Given the description of an element on the screen output the (x, y) to click on. 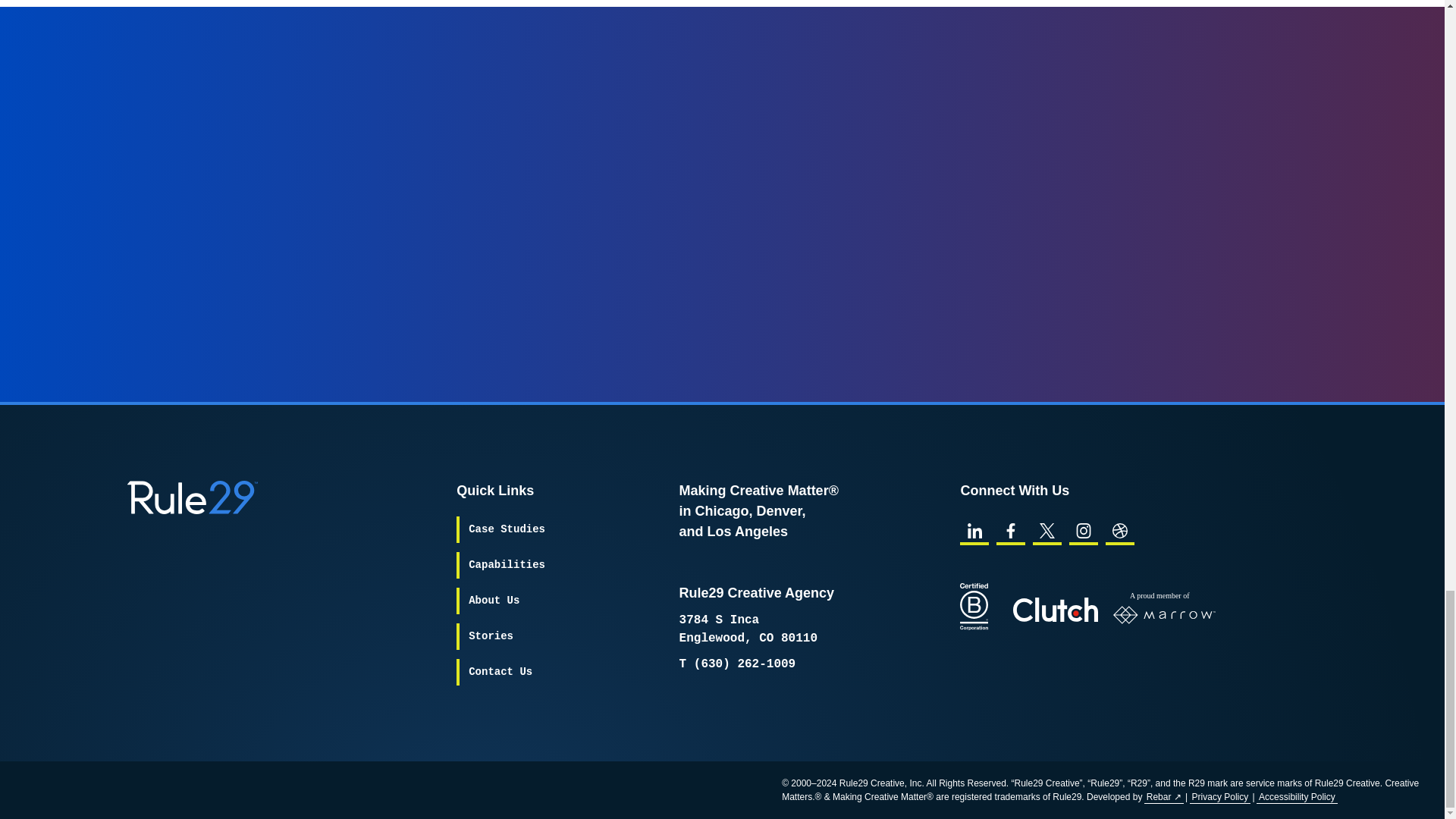
A proud member of (1164, 609)
A proud member of (1164, 606)
Privacy Policy (1220, 796)
Stories (491, 636)
Contact Us (500, 672)
About Us (494, 601)
Case Studies (507, 529)
Capabilities (507, 565)
Accessibility Policy (1296, 796)
Rebar (1163, 796)
